Given the description of an element on the screen output the (x, y) to click on. 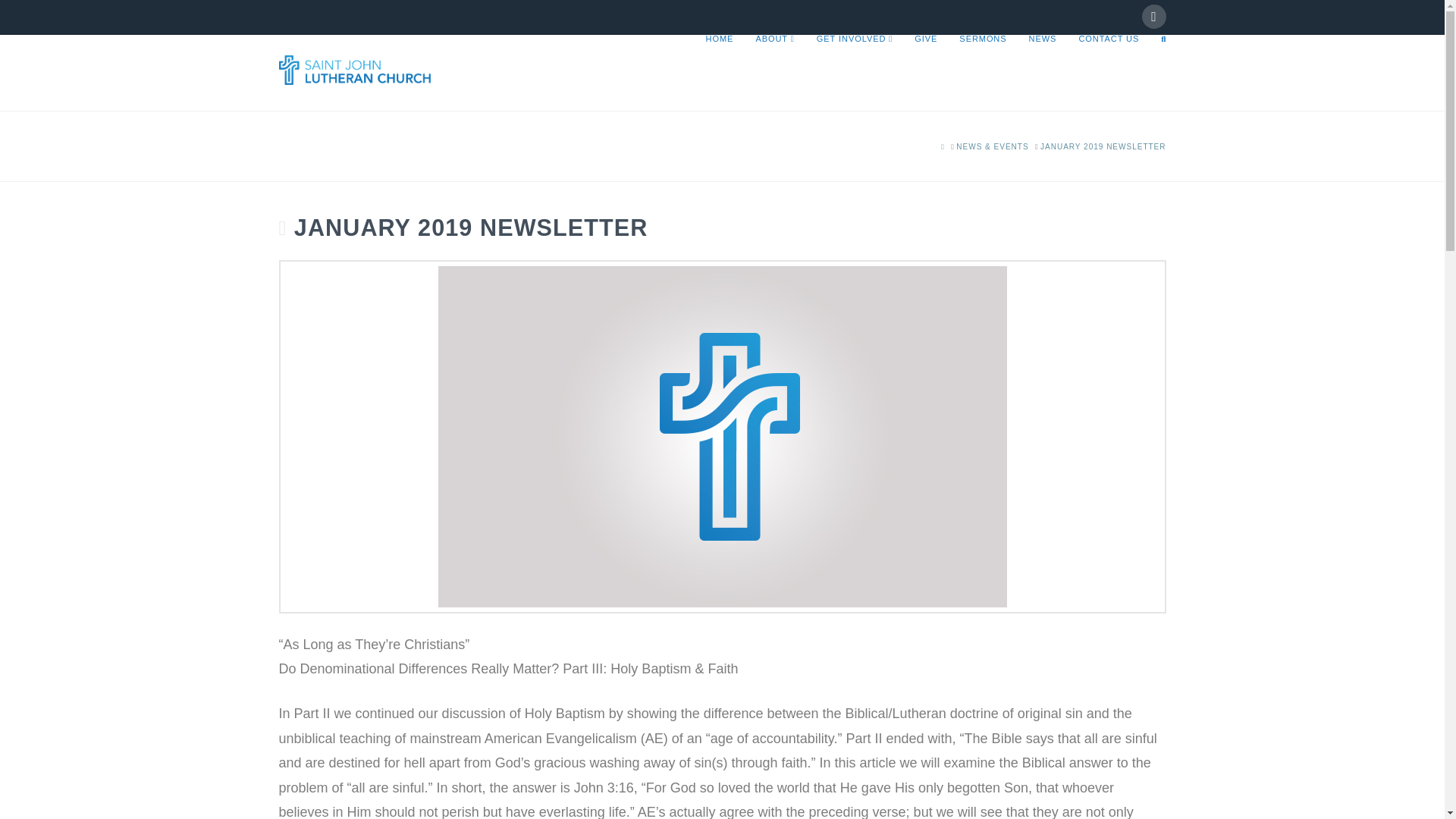
GET INVOLVED (853, 72)
SERMONS (981, 72)
You Are Here (1103, 145)
CONTACT US (1108, 72)
Facebook (1153, 16)
